Given the description of an element on the screen output the (x, y) to click on. 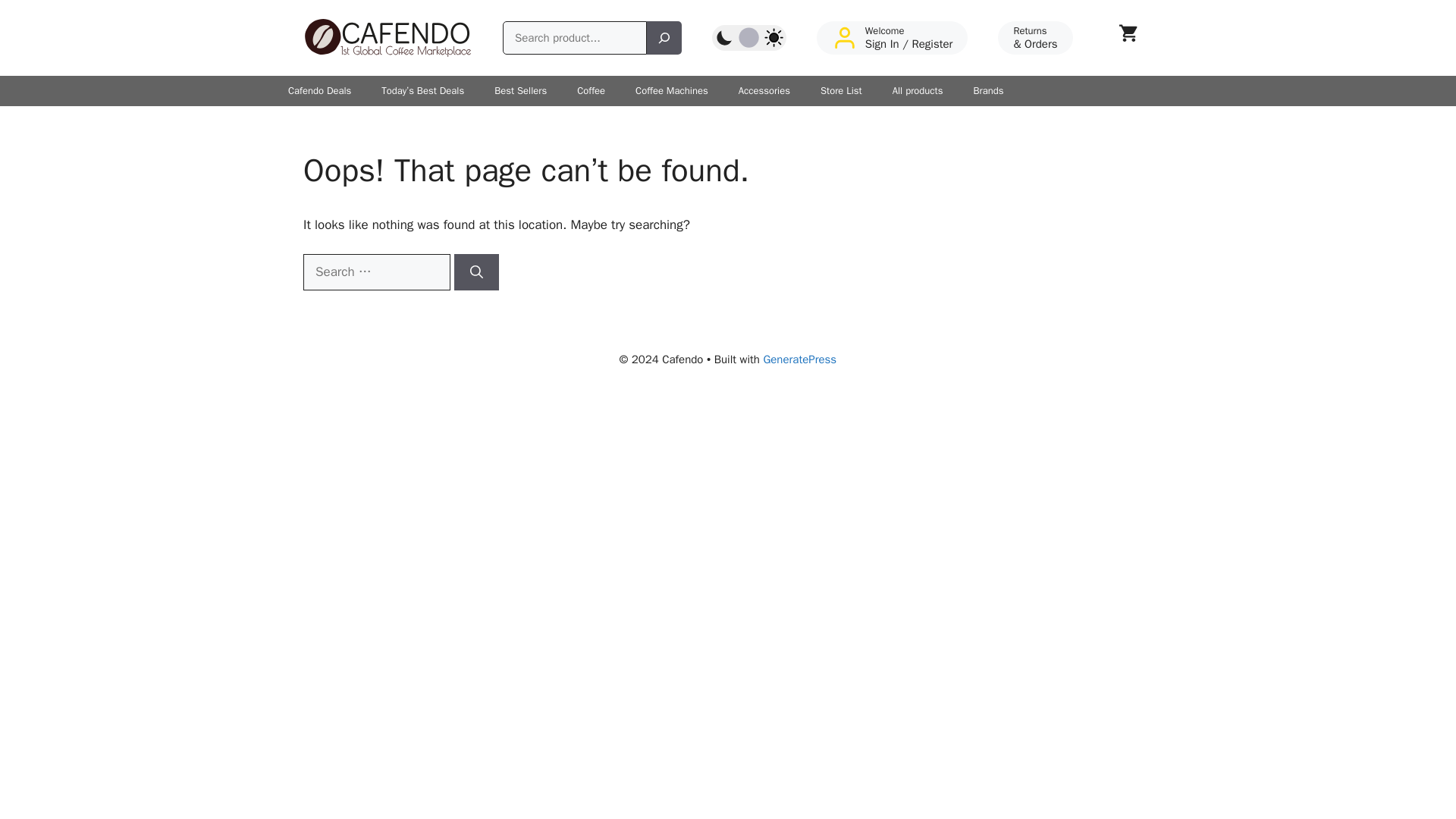
Coffee Machines (671, 91)
moon (724, 37)
Accessories (764, 91)
GeneratePress (798, 359)
Brands (987, 91)
All products (917, 91)
Store List (841, 91)
Cafendo Deals (319, 91)
View your shopping cart (1127, 37)
Best Sellers (520, 91)
